Given the description of an element on the screen output the (x, y) to click on. 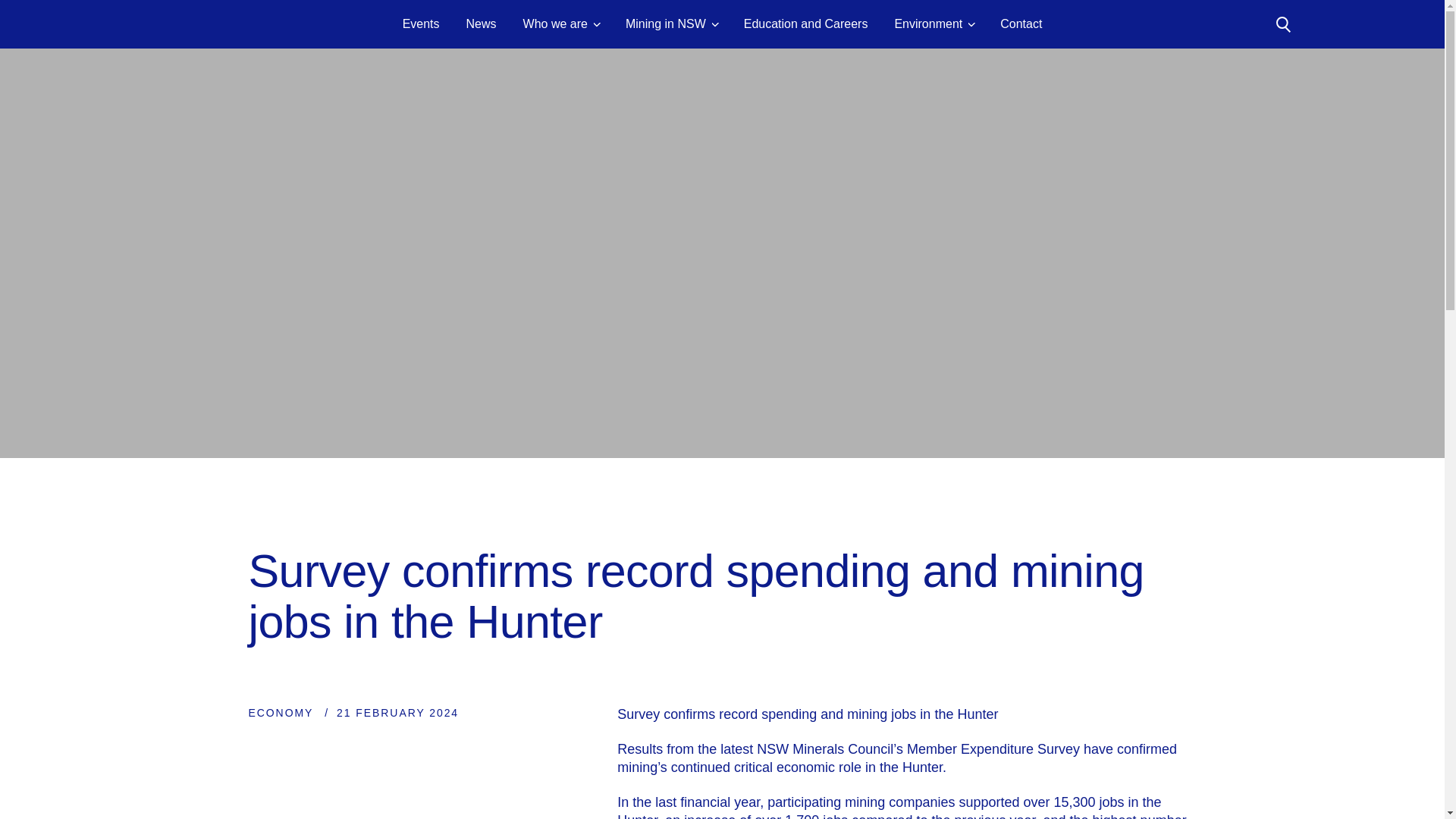
Education and Careers (805, 24)
Contact (1021, 24)
Events (421, 24)
Mining in NSW (671, 24)
Who we are (560, 24)
Search (1282, 23)
News (480, 24)
Environment (933, 24)
